Given the description of an element on the screen output the (x, y) to click on. 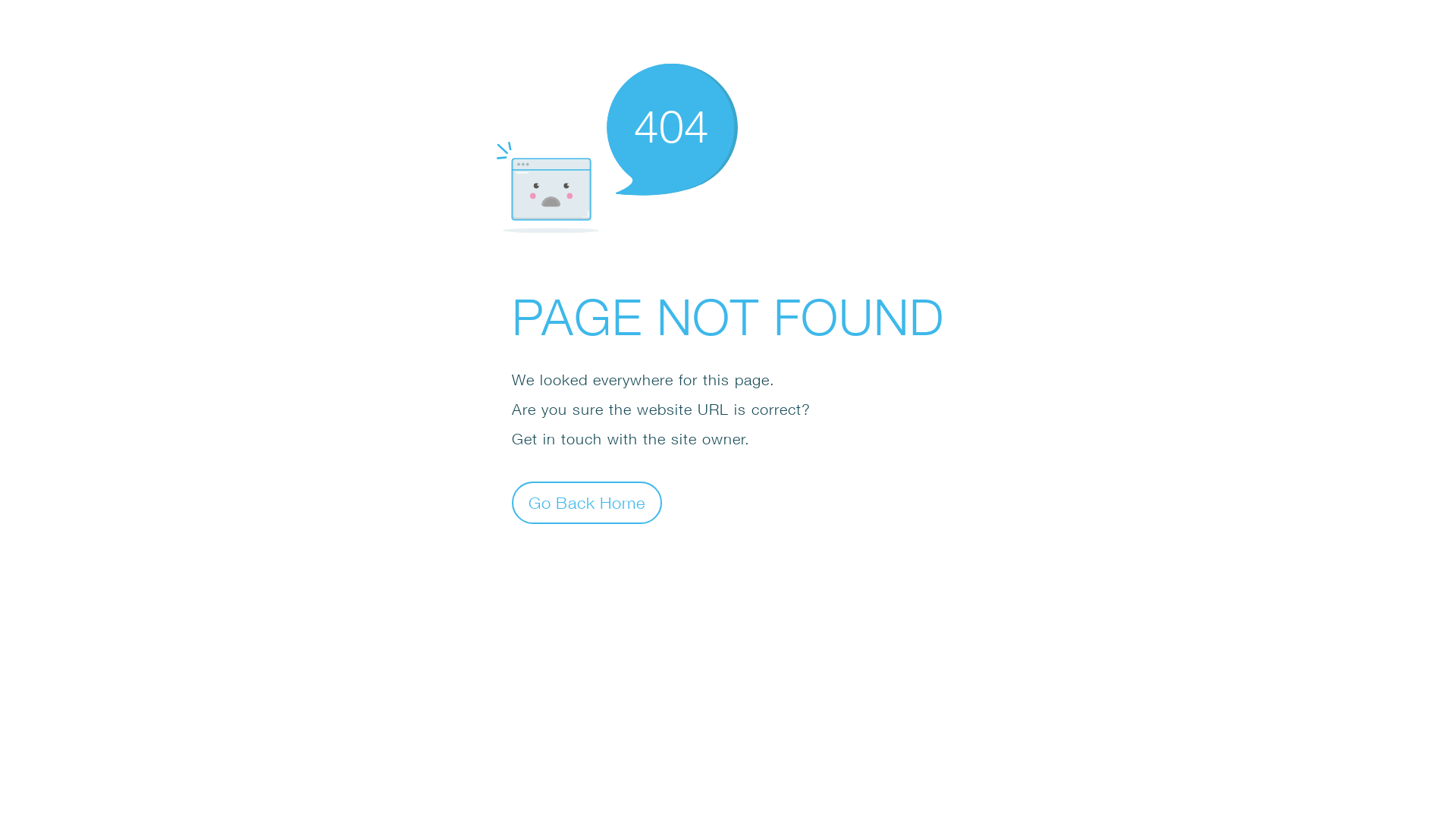
Go Back Home Element type: text (586, 502)
